Given the description of an element on the screen output the (x, y) to click on. 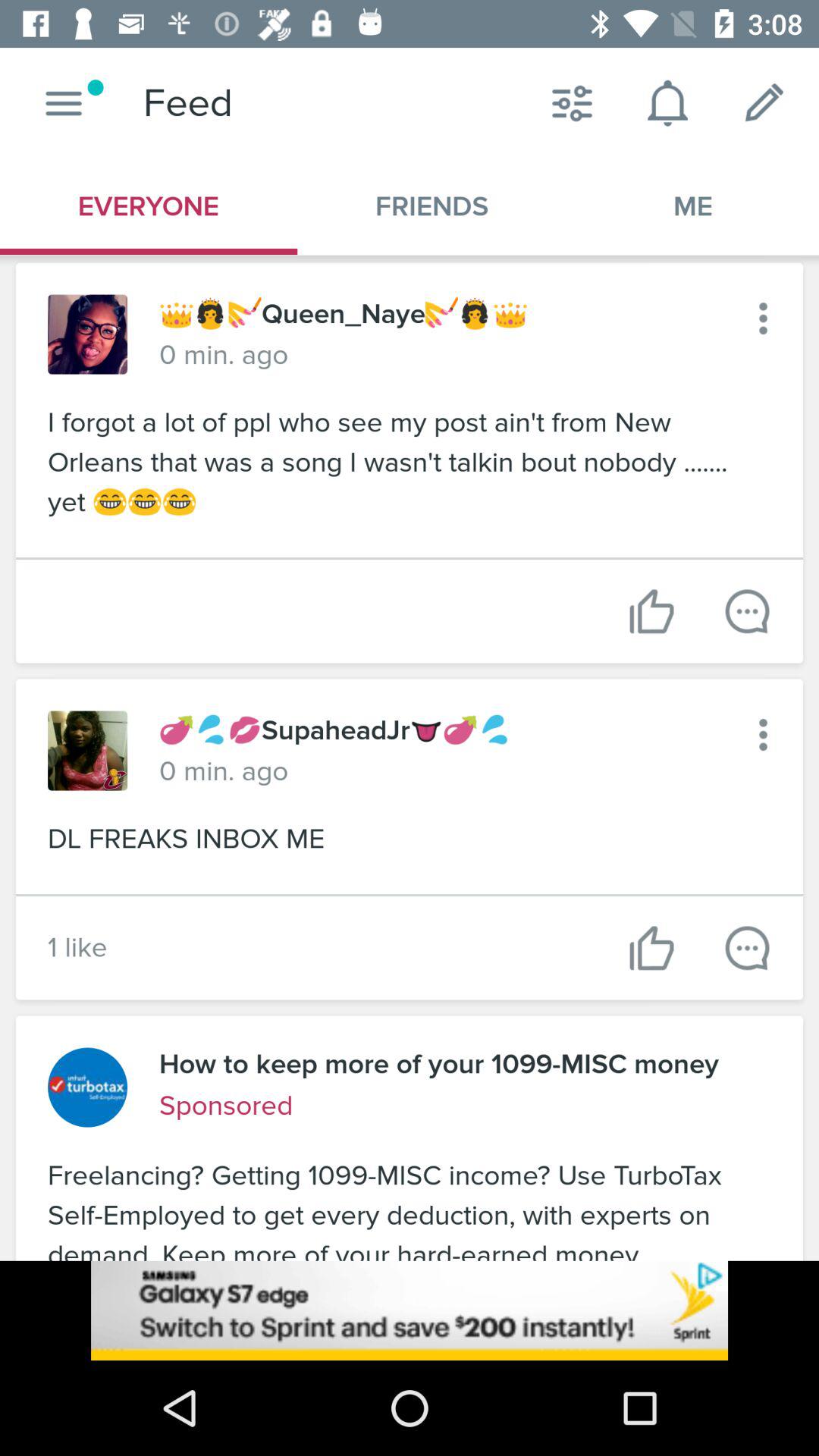
go to home (63, 103)
